Given the description of an element on the screen output the (x, y) to click on. 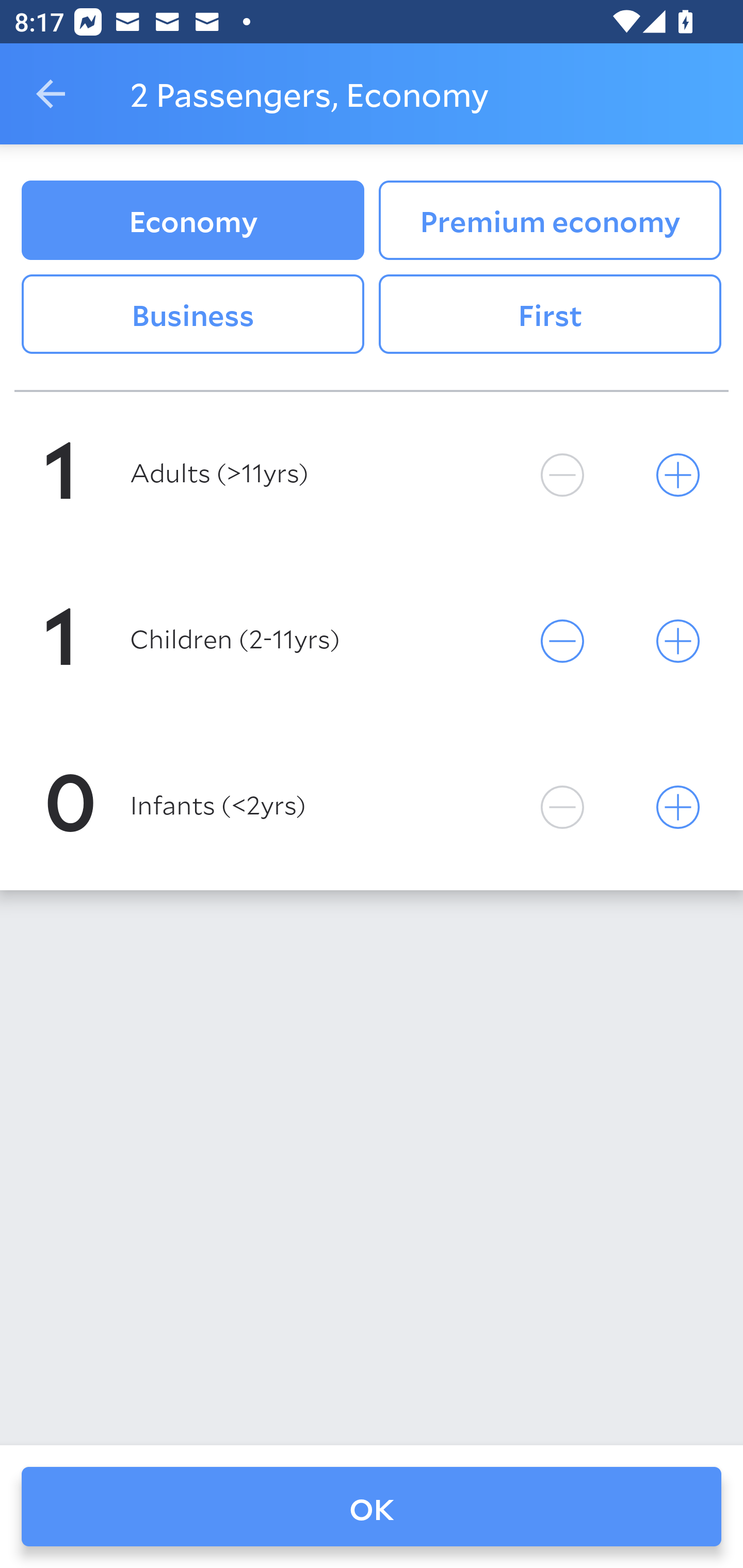
Navigate up (50, 93)
Economy (192, 220)
Premium economy (549, 220)
Business (192, 314)
First (549, 314)
OK (371, 1506)
